Given the description of an element on the screen output the (x, y) to click on. 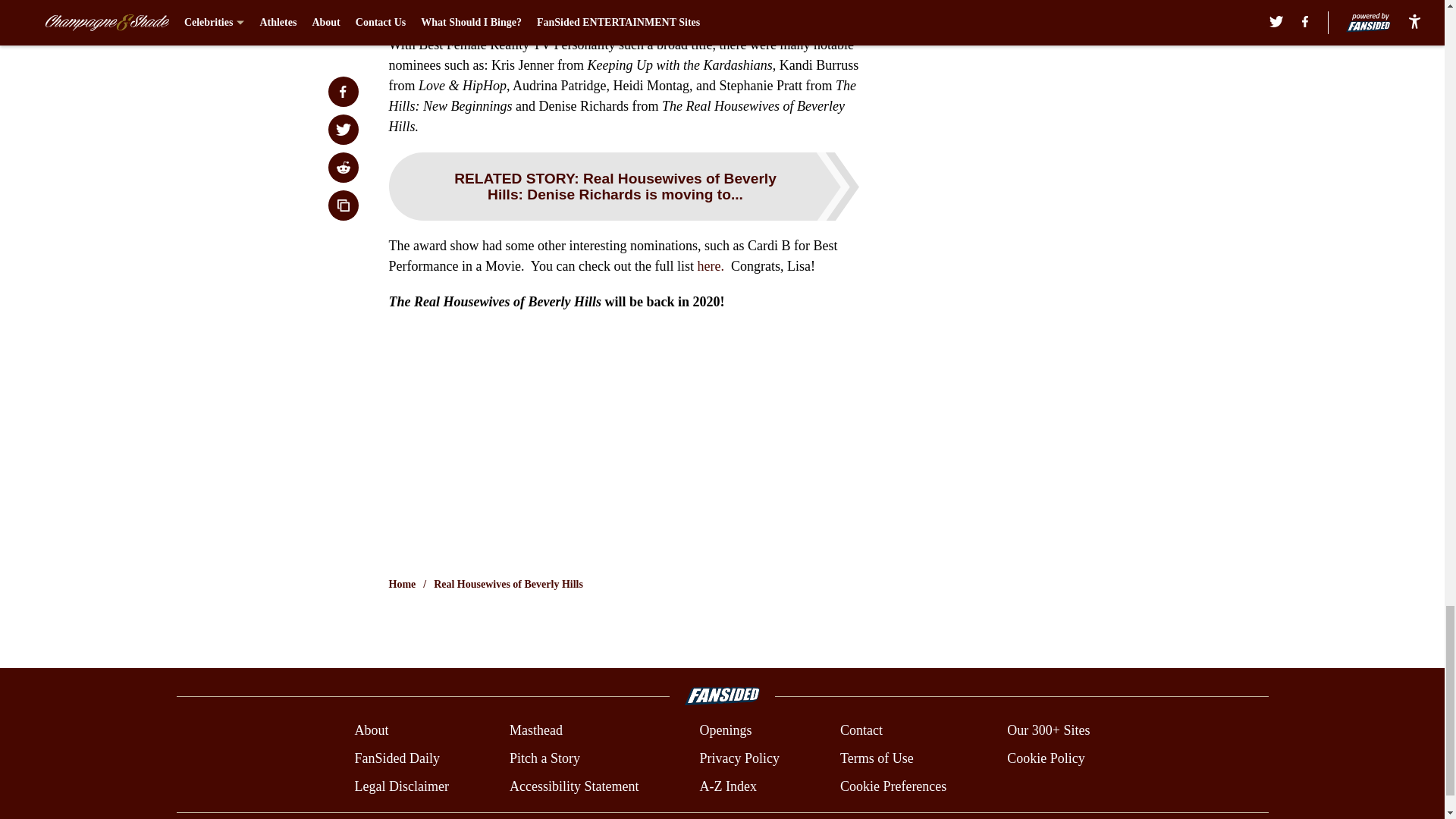
About (370, 730)
Contact (861, 730)
Home (401, 584)
Pitch a Story (544, 758)
here.  (711, 265)
FanSided Daily (396, 758)
Real Housewives of Beverly Hills (508, 584)
Openings (724, 730)
Masthead (535, 730)
